Given the description of an element on the screen output the (x, y) to click on. 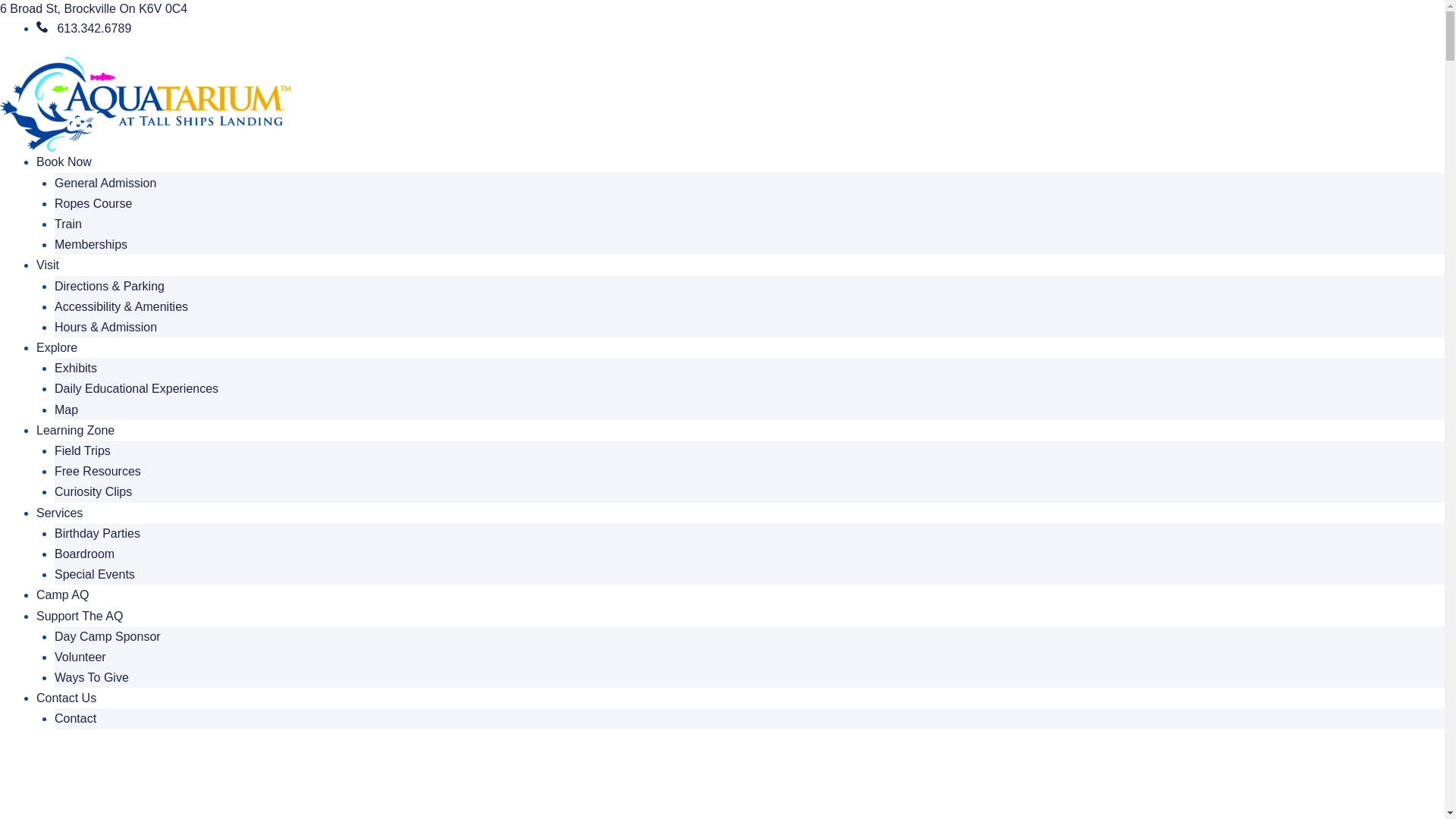
Ways To Give Element type: text (91, 677)
Accessibility & Amenities Element type: text (121, 306)
Contact Element type: text (75, 718)
Camp AQ Element type: text (62, 594)
Free Resources Element type: text (97, 470)
Daily Educational Experiences Element type: text (136, 388)
Day Camp Sponsor Element type: text (107, 636)
Train Element type: text (67, 223)
Book Now Element type: text (63, 161)
Boardroom Element type: text (84, 553)
Memberships Element type: text (90, 244)
Services Element type: text (59, 512)
Hours & Admission Element type: text (105, 326)
General Admission Element type: text (105, 182)
613.342.6789 Element type: text (83, 27)
Field Trips Element type: text (82, 450)
Birthday Parties Element type: text (97, 533)
Map Element type: text (66, 409)
Exhibits Element type: text (75, 367)
Directions & Parking Element type: text (109, 285)
Ropes Course Element type: text (92, 203)
Learning Zone Element type: text (75, 429)
Explore Element type: text (56, 347)
Support The AQ Element type: text (79, 615)
Visit Element type: text (47, 264)
Volunteer Element type: text (80, 656)
Special Events Element type: text (94, 573)
Contact Us Element type: text (66, 697)
Curiosity Clips Element type: text (92, 491)
